Given the description of an element on the screen output the (x, y) to click on. 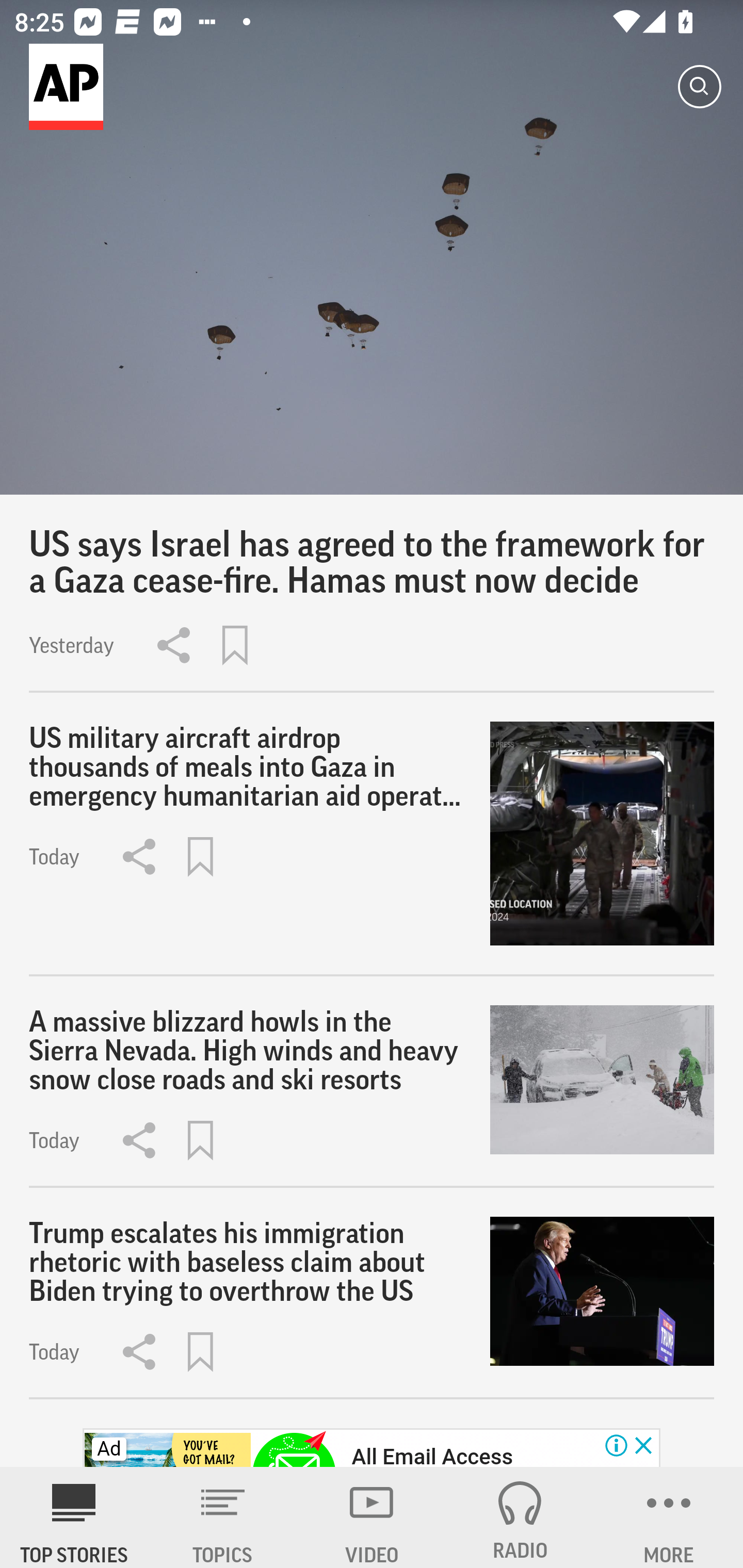
All Email Access (431, 1454)
AP News TOP STORIES (74, 1517)
TOPICS (222, 1517)
VIDEO (371, 1517)
RADIO (519, 1517)
MORE (668, 1517)
